Given the description of an element on the screen output the (x, y) to click on. 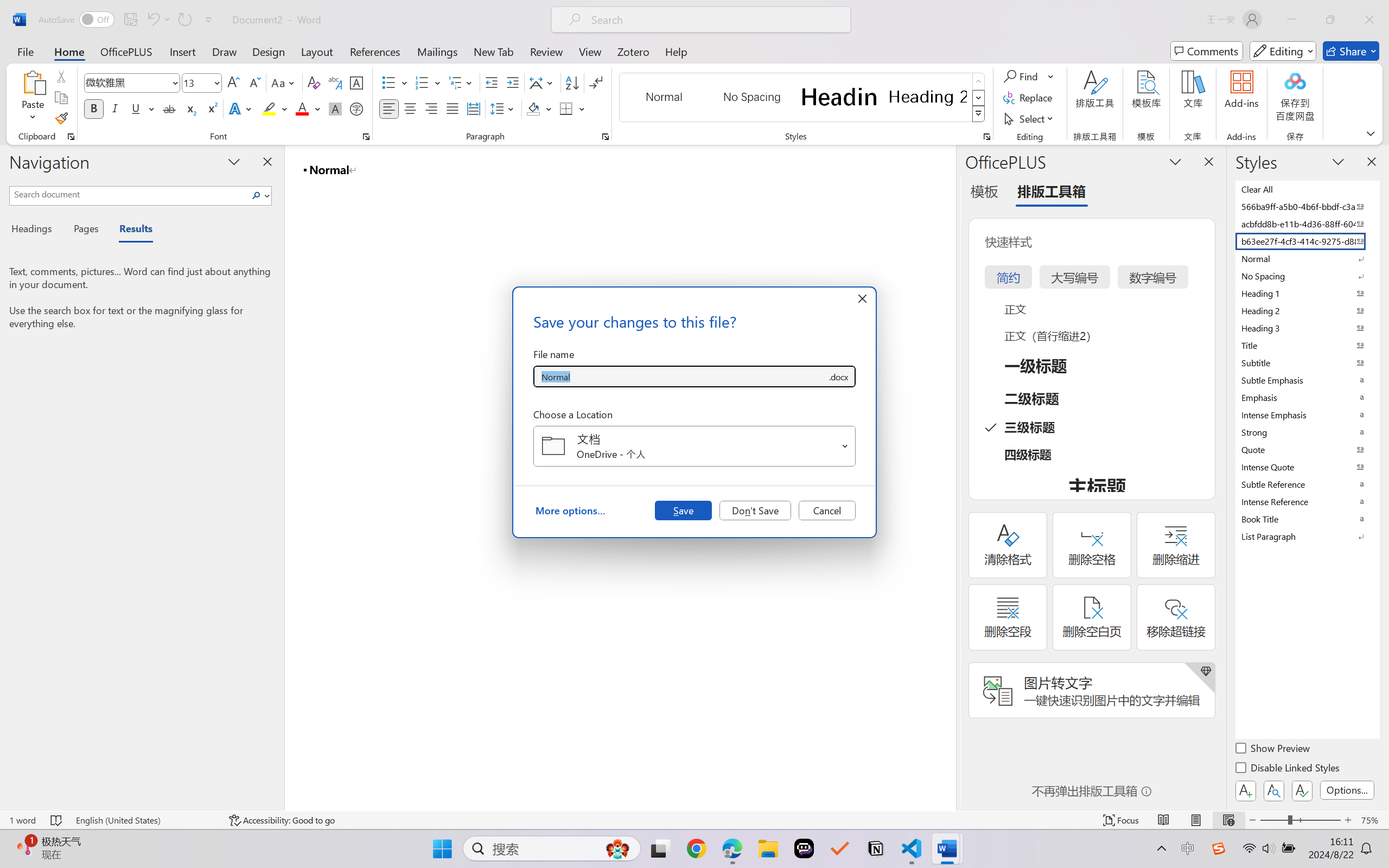
Increase Indent (512, 82)
AutomationID: QuickStylesGallery (802, 97)
Subscript (190, 108)
Select (1030, 118)
Strong (1306, 431)
Spelling and Grammar Check No Errors (56, 819)
Search (256, 195)
Draw (224, 51)
